Given the description of an element on the screen output the (x, y) to click on. 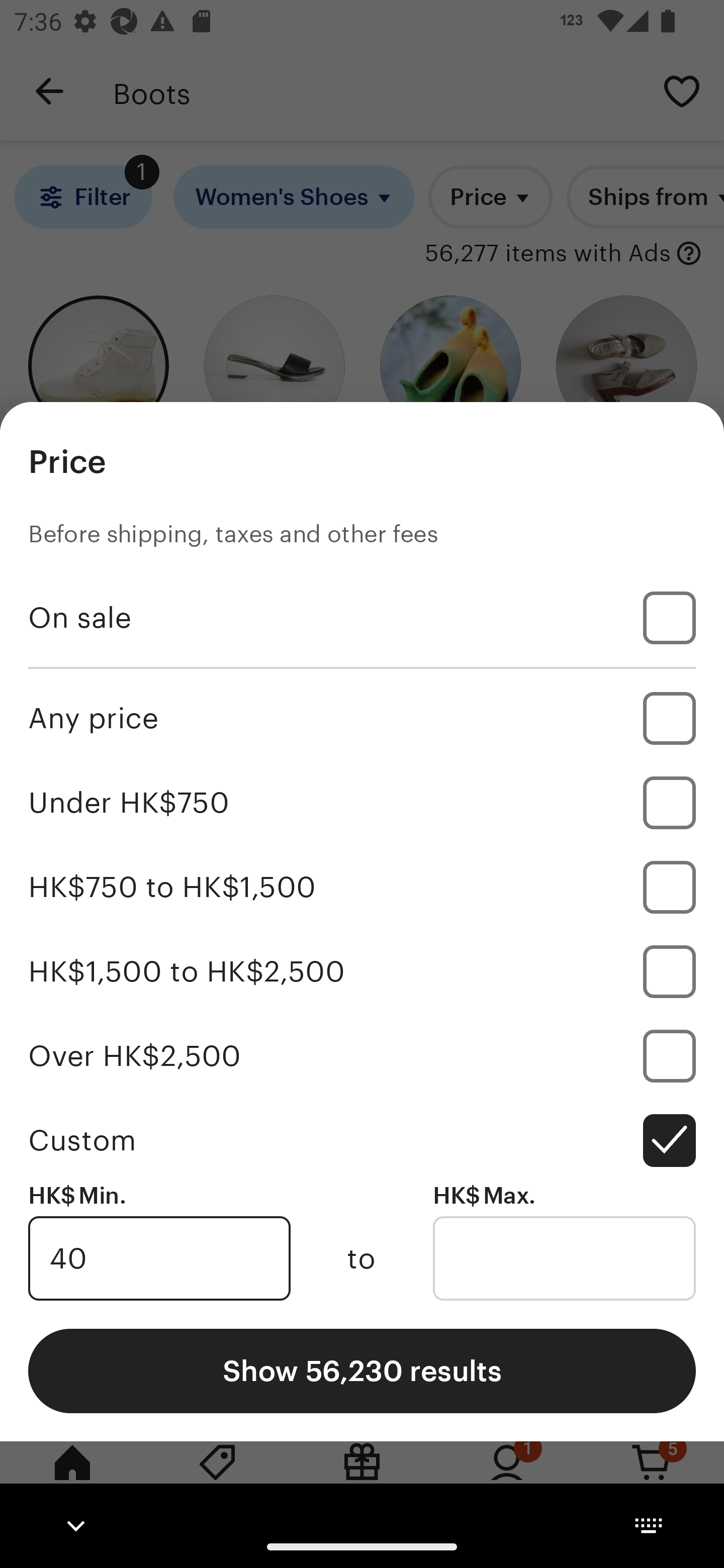
On sale (362, 617)
Any price (362, 717)
Under HK$750 (362, 802)
HK$750 to HK$1,500 (362, 887)
HK$1,500 to HK$2,500 (362, 970)
Over HK$2,500 (362, 1054)
Custom (362, 1139)
40 (159, 1257)
Show 56,230 results (361, 1370)
